Given the description of an element on the screen output the (x, y) to click on. 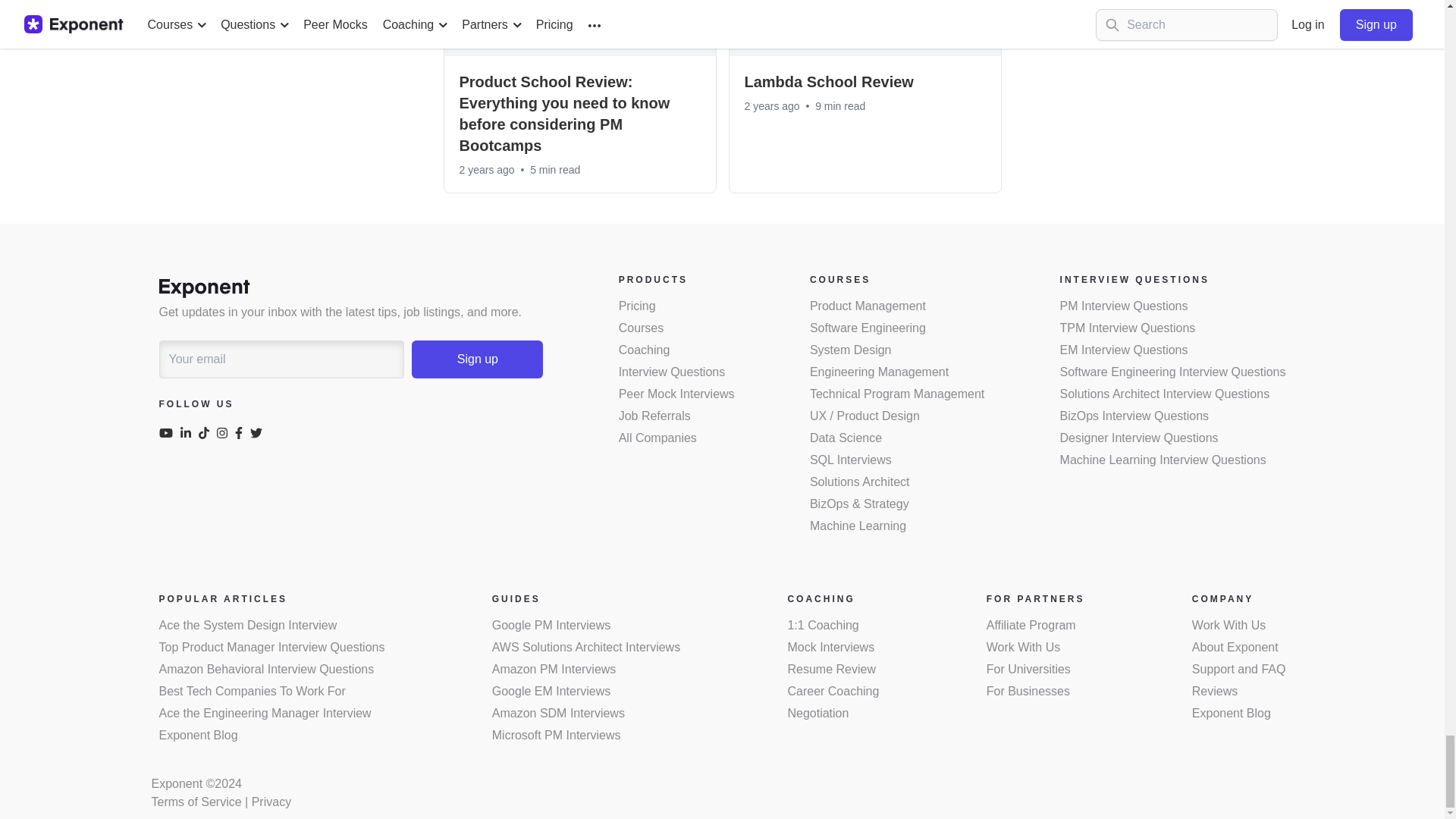
Follow Exponent on Instagram (225, 434)
Follow Exponent on Twitter (259, 434)
Subscribe to Exponent on Youtube (169, 434)
Follow Exponent on LinkedIn (189, 434)
Follow Exponent on TikTok (207, 434)
